Given the description of an element on the screen output the (x, y) to click on. 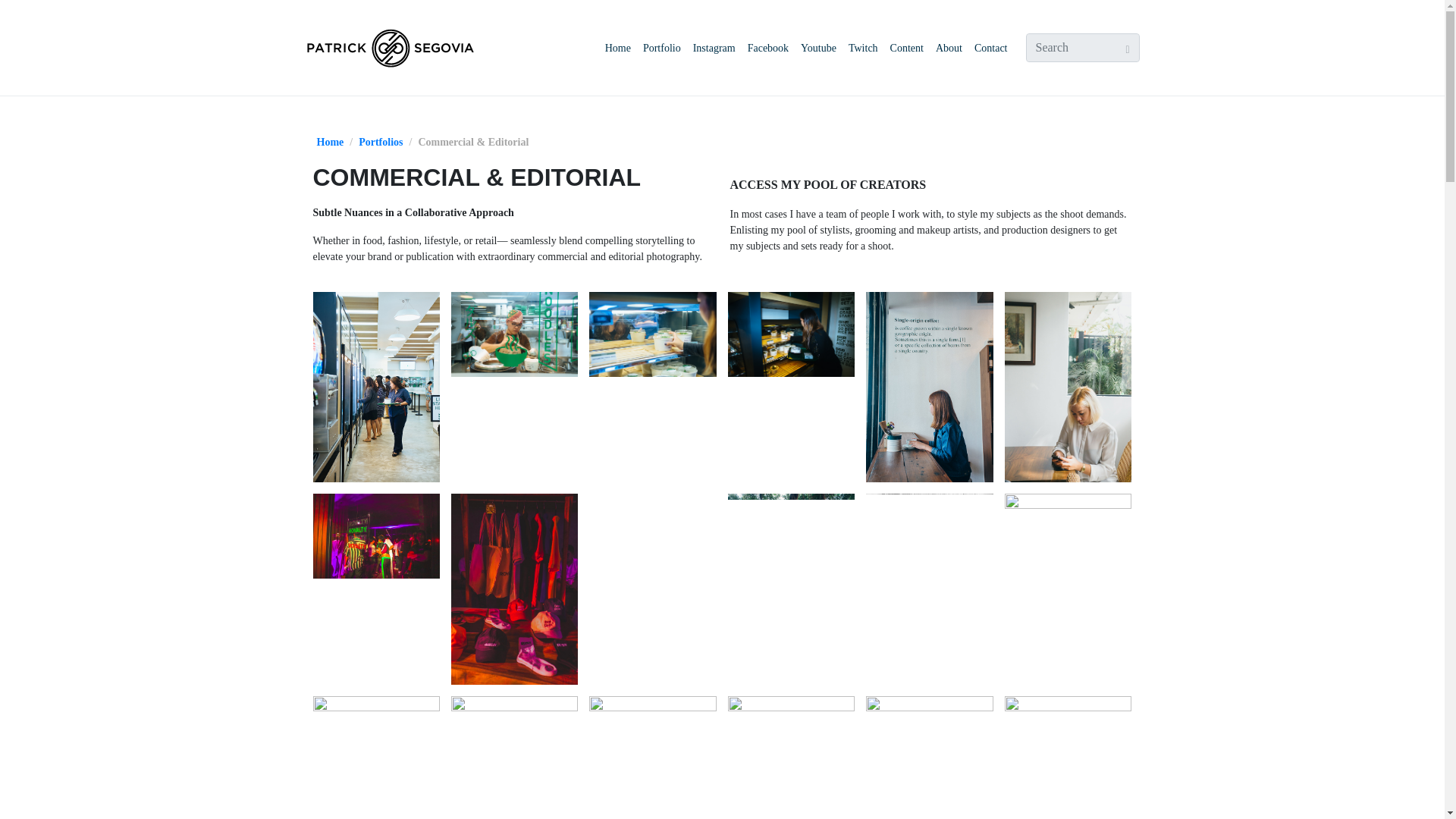
Portfolios (380, 142)
Portfolio (662, 47)
Content (906, 47)
Instagram (714, 47)
Youtube (818, 47)
Home (330, 142)
About (949, 47)
Twitch (863, 47)
Home (617, 47)
Contact (990, 47)
